Given the description of an element on the screen output the (x, y) to click on. 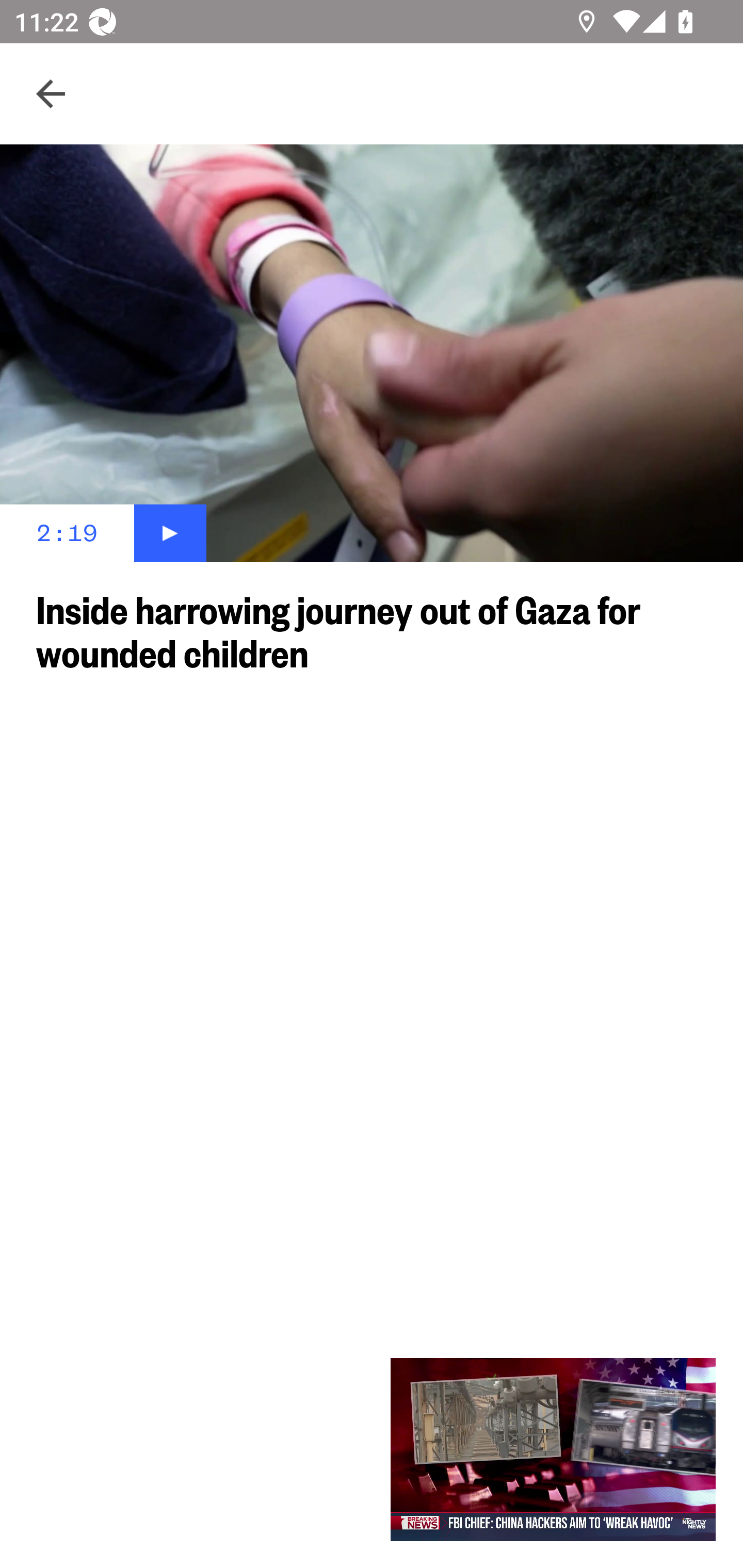
Navigate up (50, 93)
